Given the description of an element on the screen output the (x, y) to click on. 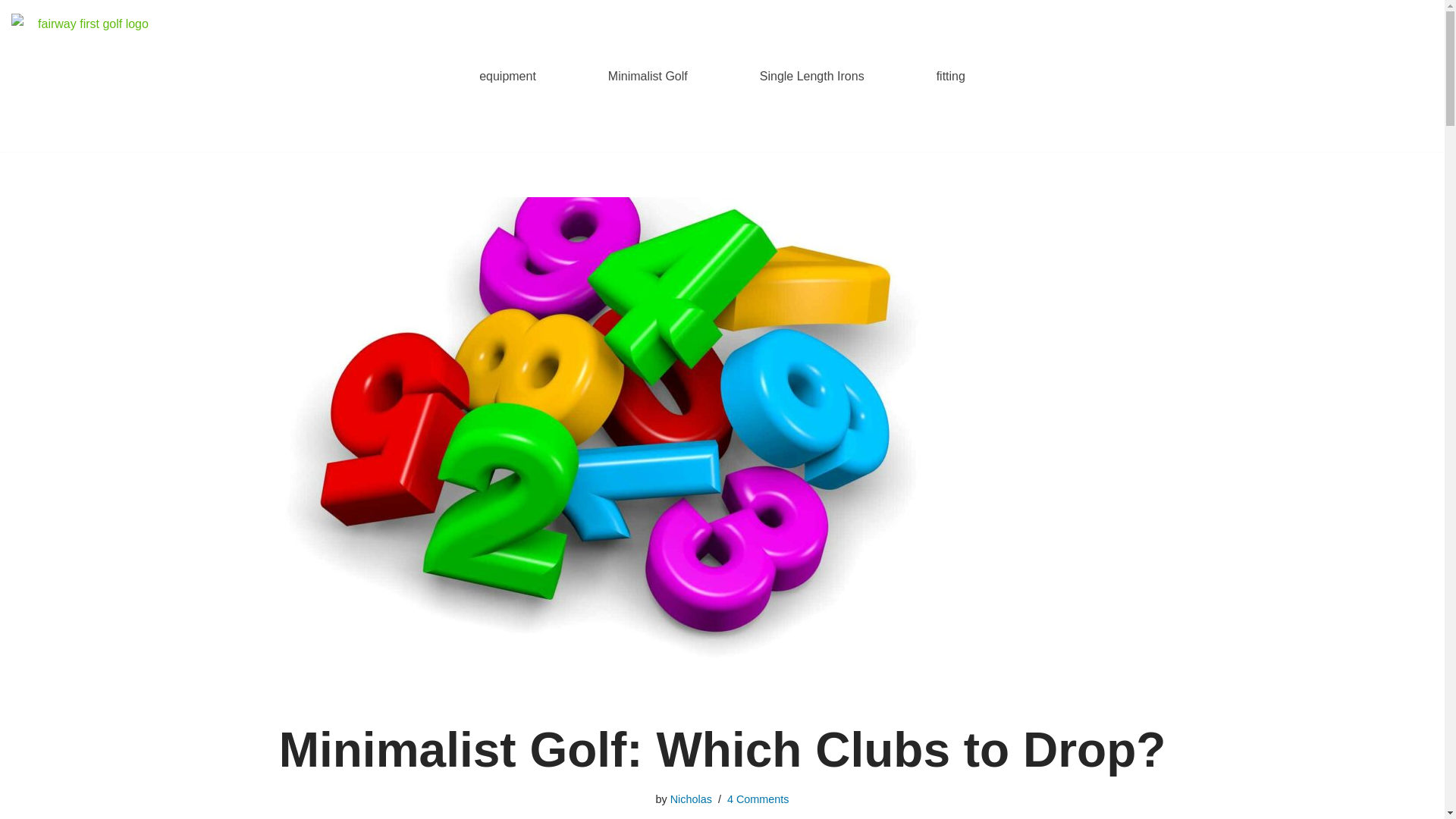
Minimalist Golf (647, 75)
4 Comments (757, 799)
Nicholas (690, 799)
Skip to content (11, 31)
Posts by Nicholas (690, 799)
Single Length Irons (812, 75)
